Given the description of an element on the screen output the (x, y) to click on. 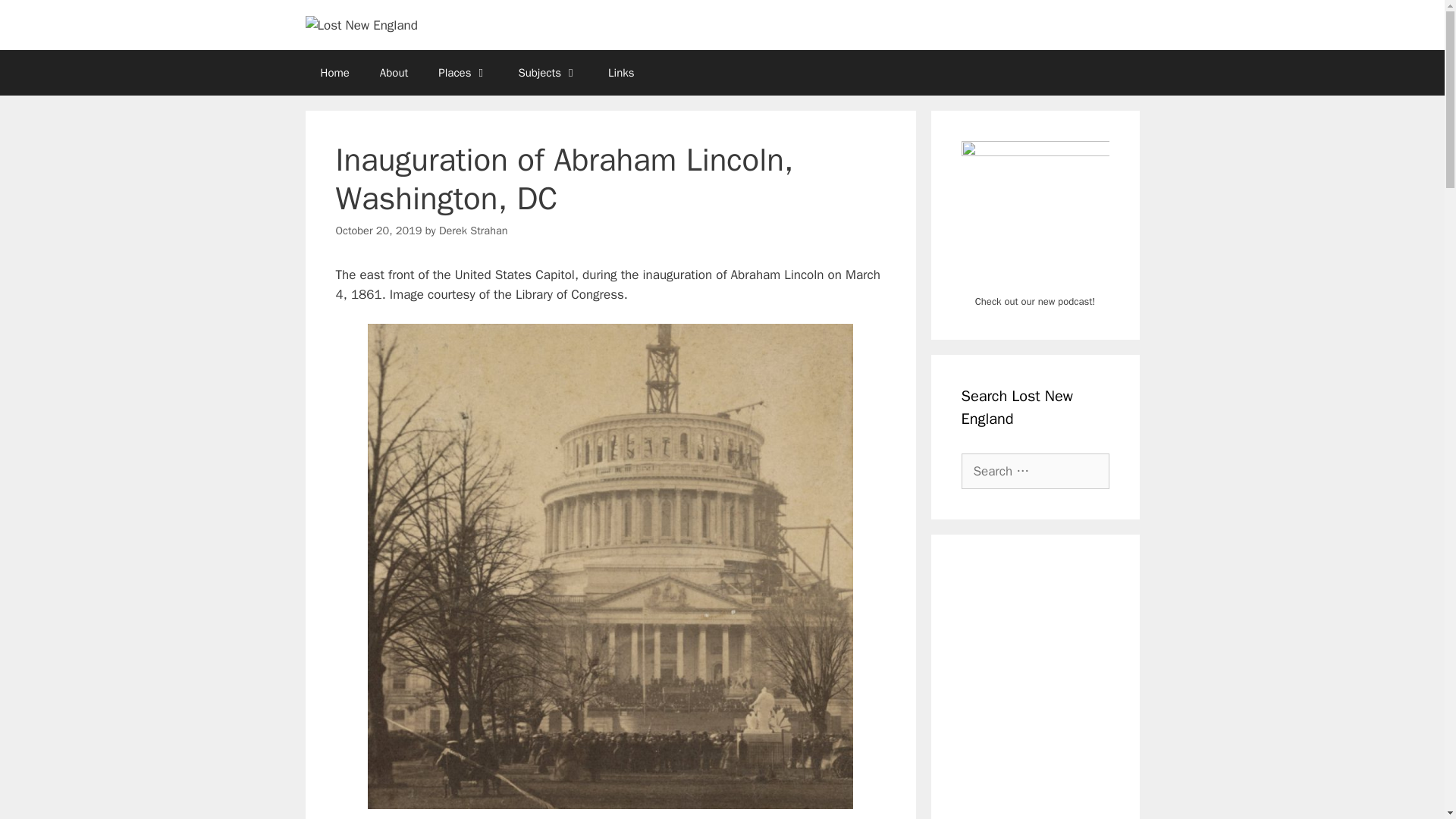
Search for: (1034, 471)
Places (462, 72)
View all posts by Derek Strahan (473, 230)
About (394, 72)
Home (334, 72)
Subjects (547, 72)
